Given the description of an element on the screen output the (x, y) to click on. 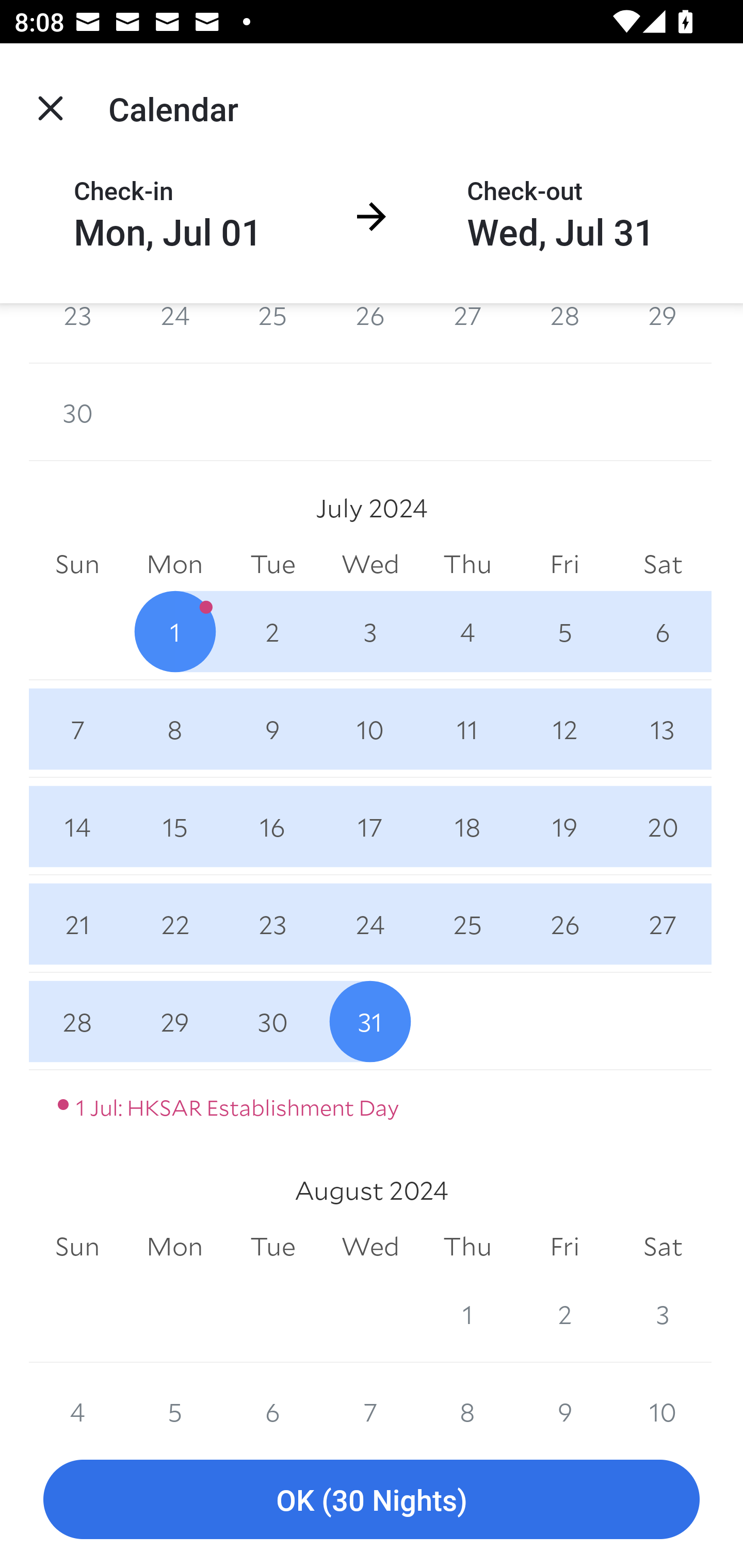
23 23 June 2024 (77, 332)
24 24 June 2024 (174, 332)
25 25 June 2024 (272, 332)
26 26 June 2024 (370, 332)
27 27 June 2024 (467, 332)
28 28 June 2024 (564, 332)
29 29 June 2024 (662, 332)
30 30 June 2024 (77, 411)
Sun (77, 564)
Mon (174, 564)
Tue (272, 564)
Wed (370, 564)
Thu (467, 564)
Fri (564, 564)
Sat (662, 564)
1 1 July 2024 (174, 631)
2 2 July 2024 (272, 631)
3 3 July 2024 (370, 631)
4 4 July 2024 (467, 631)
5 5 July 2024 (564, 631)
6 6 July 2024 (662, 631)
7 7 July 2024 (77, 728)
8 8 July 2024 (174, 728)
9 9 July 2024 (272, 728)
10 10 July 2024 (370, 728)
11 11 July 2024 (467, 728)
12 12 July 2024 (564, 728)
13 13 July 2024 (662, 728)
14 14 July 2024 (77, 825)
15 15 July 2024 (174, 825)
16 16 July 2024 (272, 825)
17 17 July 2024 (370, 825)
18 18 July 2024 (467, 825)
19 19 July 2024 (564, 825)
20 20 July 2024 (662, 825)
21 21 July 2024 (77, 923)
22 22 July 2024 (174, 923)
23 23 July 2024 (272, 923)
24 24 July 2024 (370, 923)
25 25 July 2024 (467, 923)
26 26 July 2024 (564, 923)
27 27 July 2024 (662, 923)
28 28 July 2024 (77, 1021)
29 29 July 2024 (174, 1021)
30 30 July 2024 (272, 1021)
31 31 July 2024 (370, 1021)
Sun (77, 1246)
Mon (174, 1246)
Tue (272, 1246)
Wed (370, 1246)
Thu (467, 1246)
Fri (564, 1246)
Sat (662, 1246)
1 1 August 2024 (467, 1313)
2 2 August 2024 (564, 1313)
3 3 August 2024 (662, 1313)
4 4 August 2024 (77, 1396)
5 5 August 2024 (174, 1396)
6 6 August 2024 (272, 1396)
7 7 August 2024 (370, 1396)
8 8 August 2024 (467, 1396)
9 9 August 2024 (564, 1396)
10 10 August 2024 (662, 1396)
OK (30 Nights) (371, 1499)
